Given the description of an element on the screen output the (x, y) to click on. 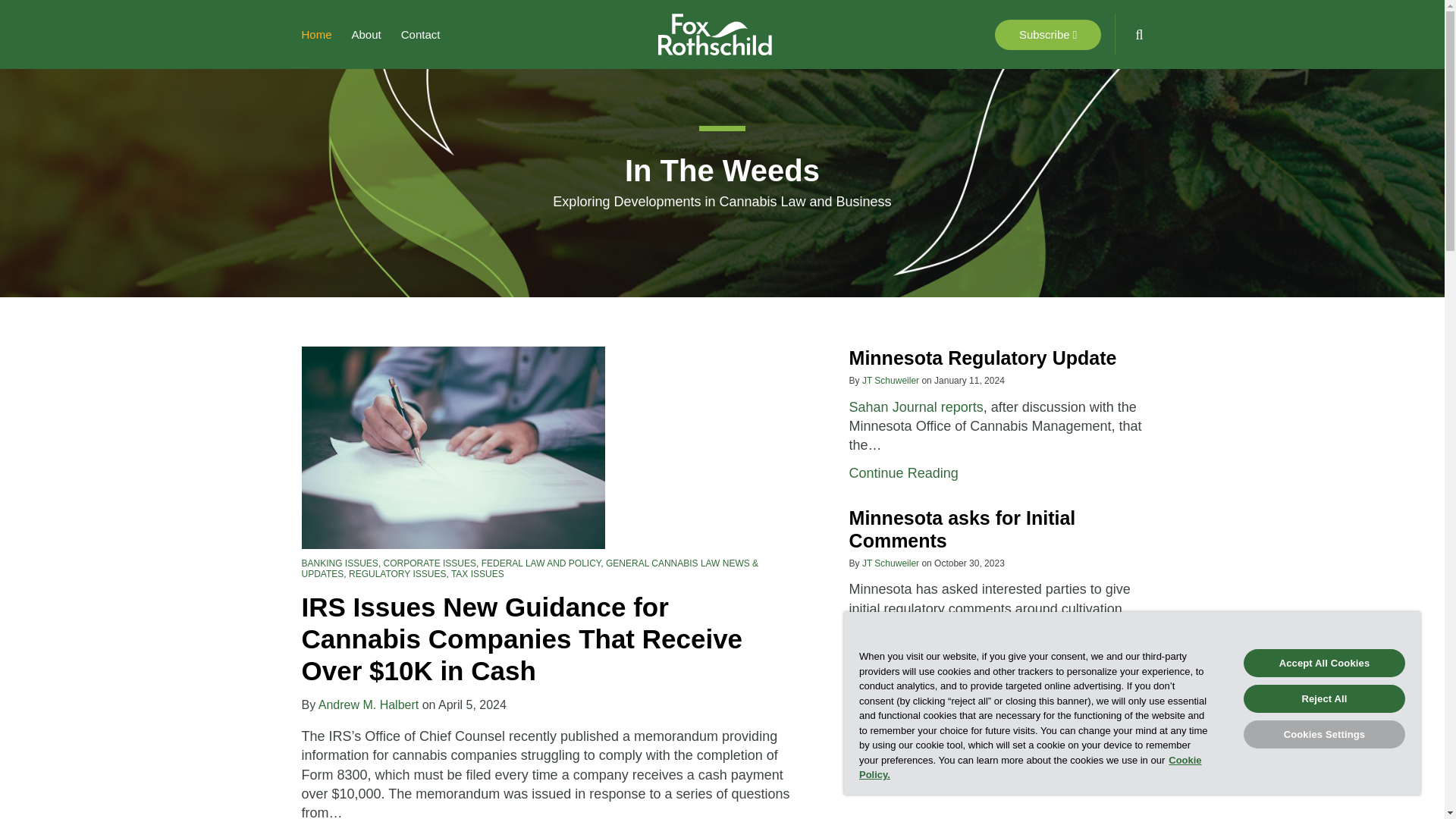
FEDERAL LAW AND POLICY (541, 562)
JT Schuweiler (903, 473)
In The Weeds (889, 380)
Contact (316, 34)
About (721, 170)
REGULATORY ISSUES (421, 34)
CORPORATE ISSUES (366, 34)
JT Schuweiler (397, 573)
BANKING ISSUES (430, 562)
Minnesota Regulatory Update (889, 562)
TAX ISSUES (339, 562)
Andrew M. Halbert (982, 357)
Minnesota asks for Initial Comments (477, 573)
